Given the description of an element on the screen output the (x, y) to click on. 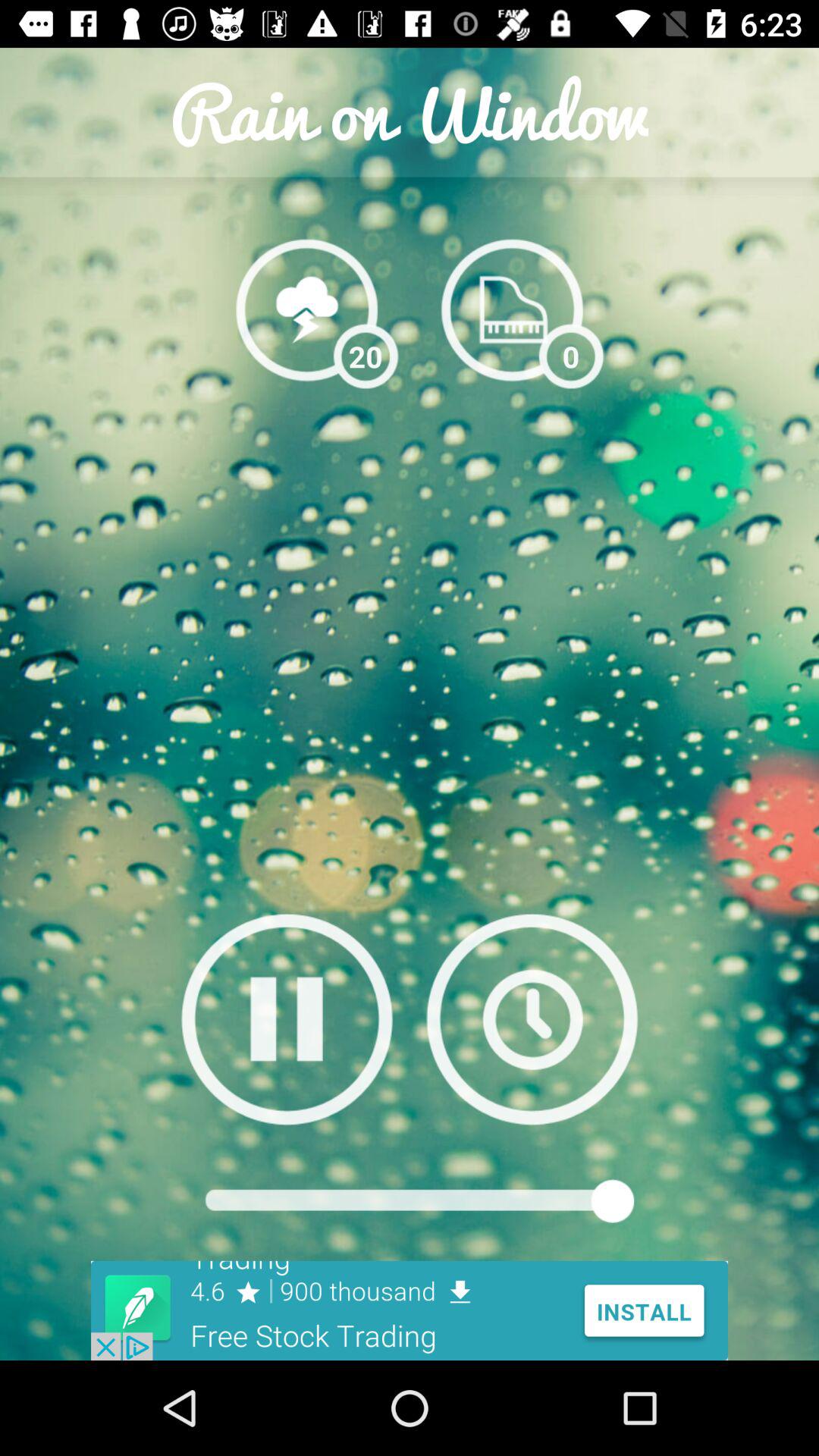
advertisement button for stock trading (409, 1310)
